Given the description of an element on the screen output the (x, y) to click on. 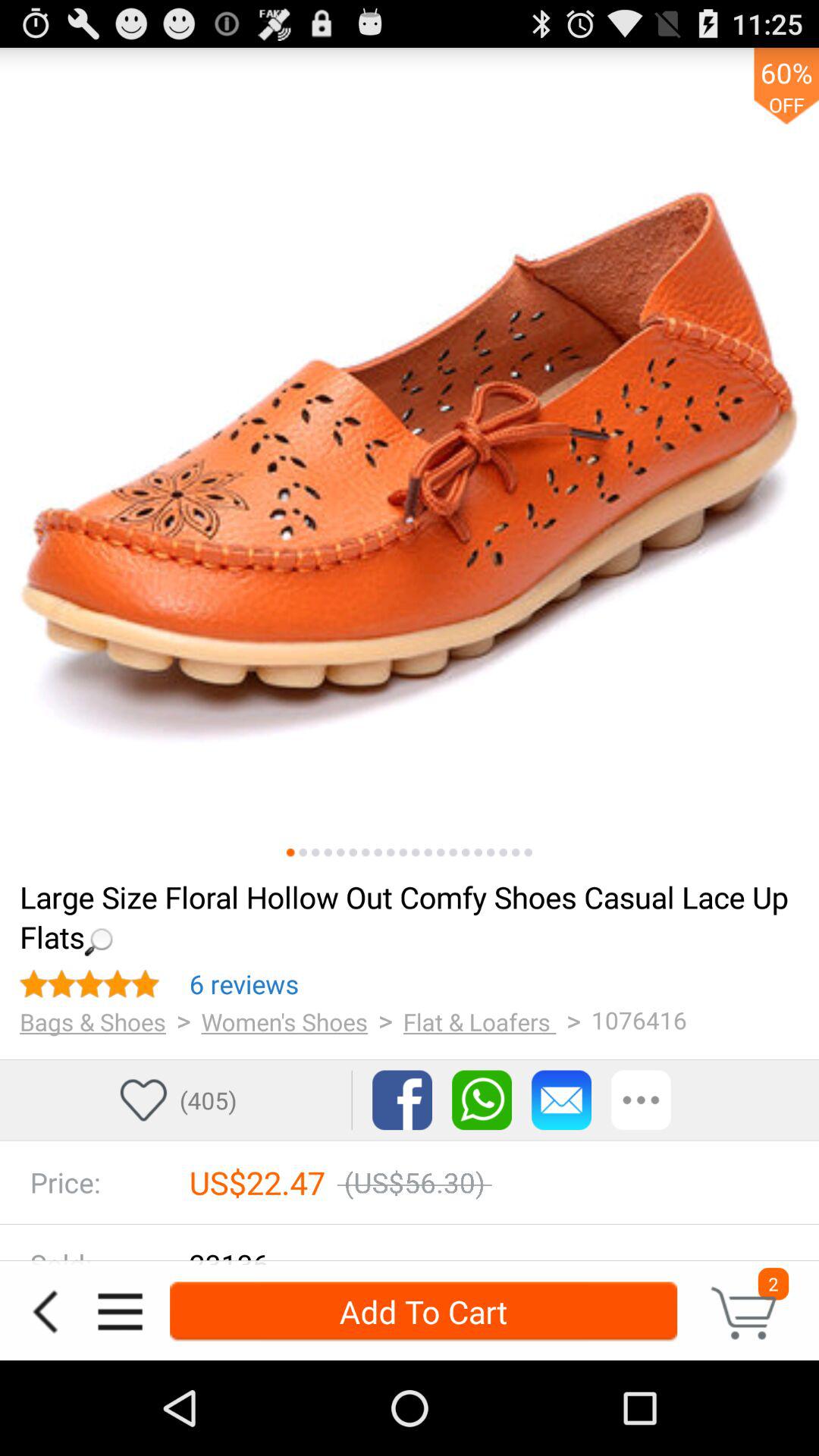
go to this page (478, 852)
